Given the description of an element on the screen output the (x, y) to click on. 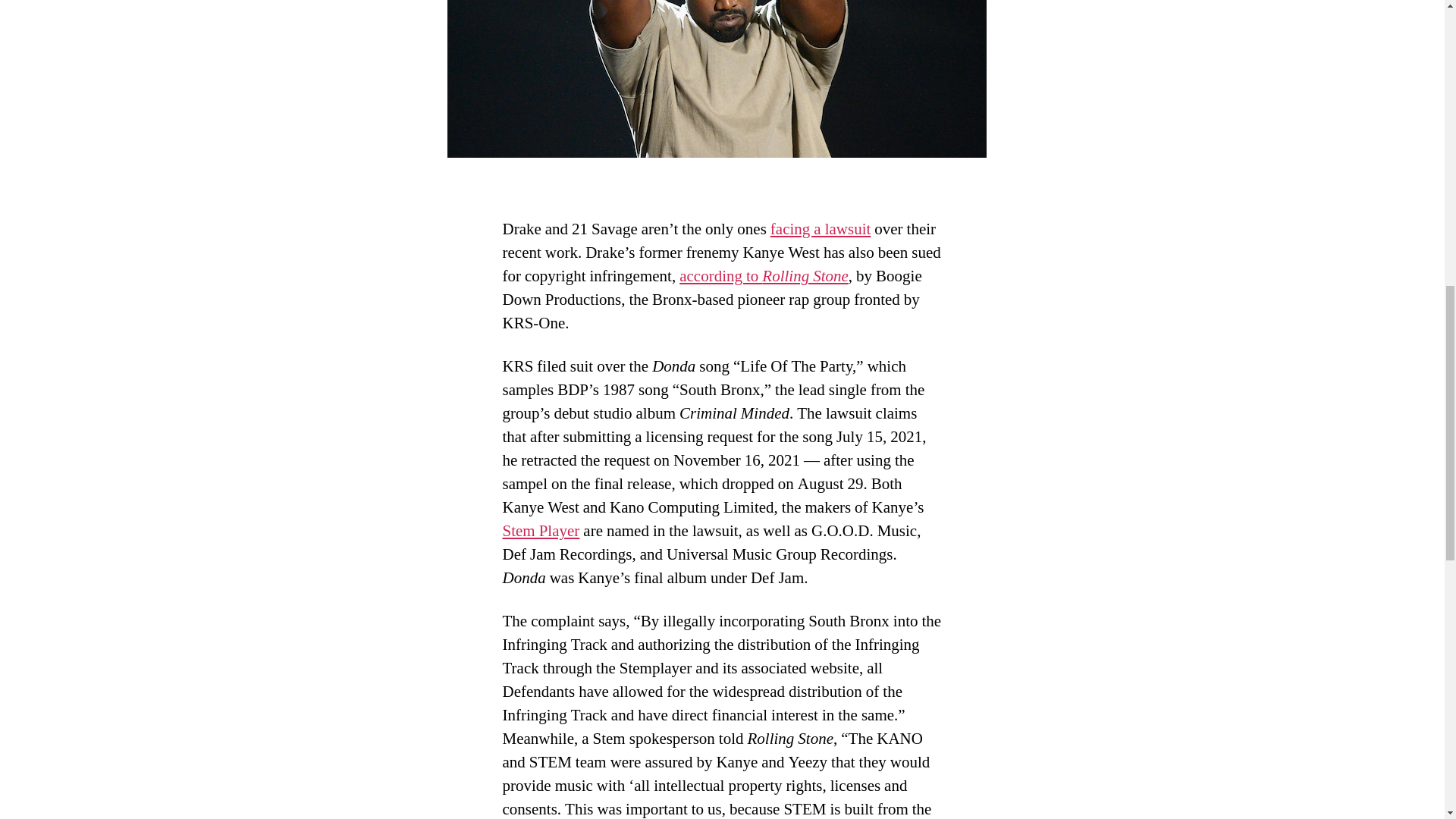
facing a lawsuit (820, 229)
Stem Player (540, 530)
according to Rolling Stone (763, 276)
